Given the description of an element on the screen output the (x, y) to click on. 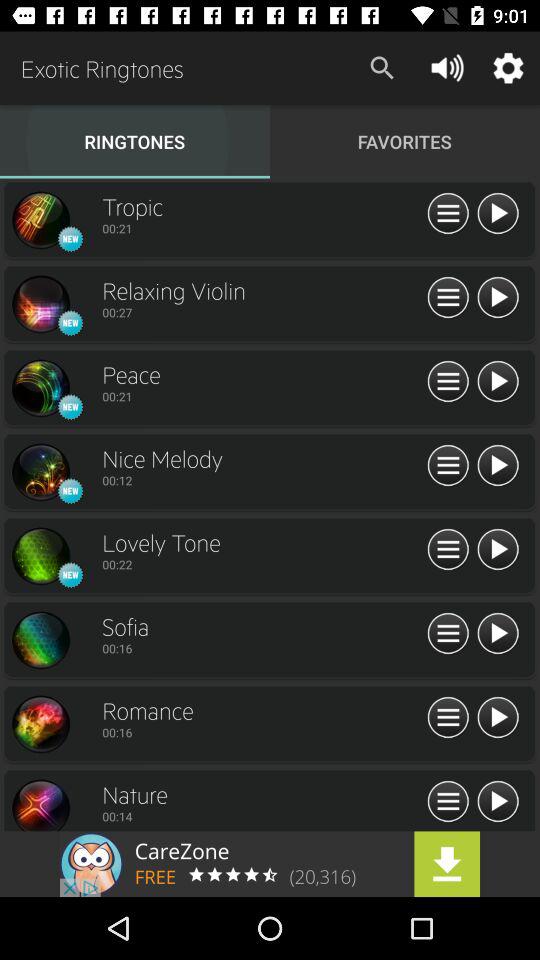
expand settings (447, 549)
